Given the description of an element on the screen output the (x, y) to click on. 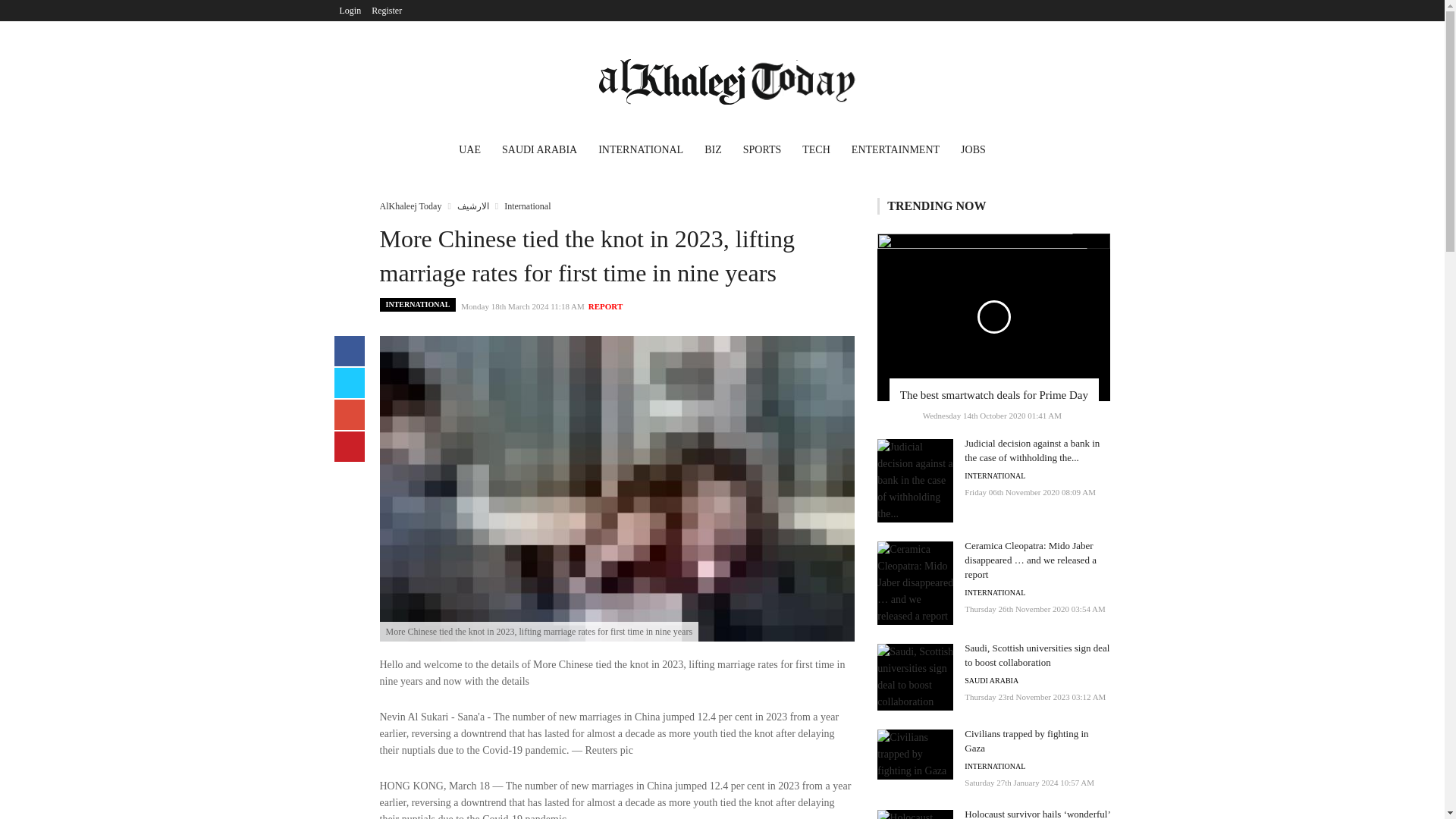
INTERNATIONAL (416, 305)
JOBS (972, 151)
TECH (816, 151)
Login (349, 10)
SAUDI ARABIA (540, 151)
BIZ (713, 151)
International (526, 205)
UAE (470, 151)
AlKhaleej Today (409, 205)
SPORTS (762, 151)
